Given the description of an element on the screen output the (x, y) to click on. 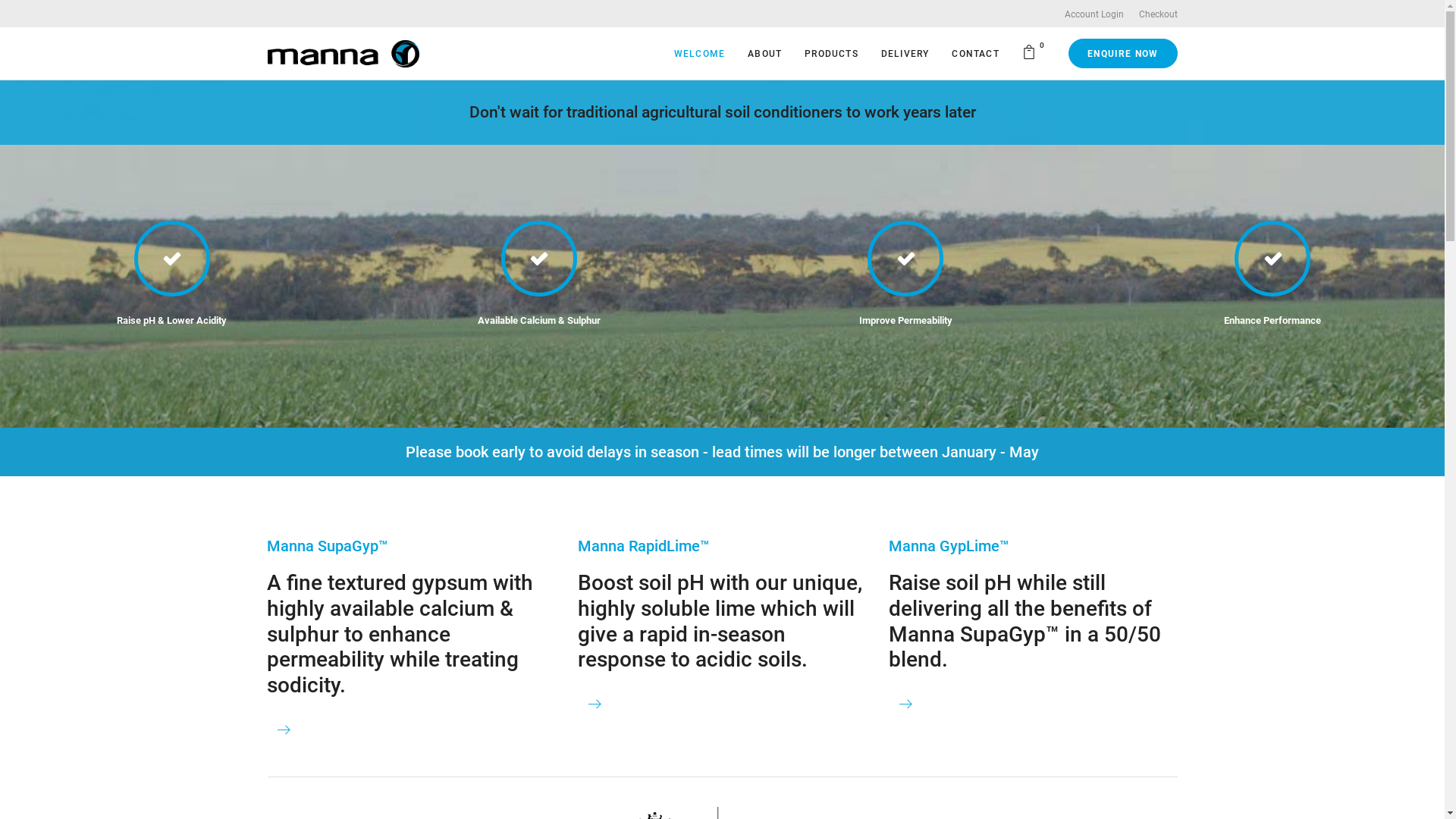
CONTACT Element type: text (975, 53)
DELIVERY Element type: text (905, 53)
Checkout Element type: text (1158, 14)
0 Element type: text (1031, 53)
PRODUCTS Element type: text (831, 53)
ENQUIRE NOW Element type: text (1122, 53)
Account Login Element type: text (1093, 14)
ABOUT Element type: text (764, 53)
WELCOME Element type: text (699, 53)
